Given the description of an element on the screen output the (x, y) to click on. 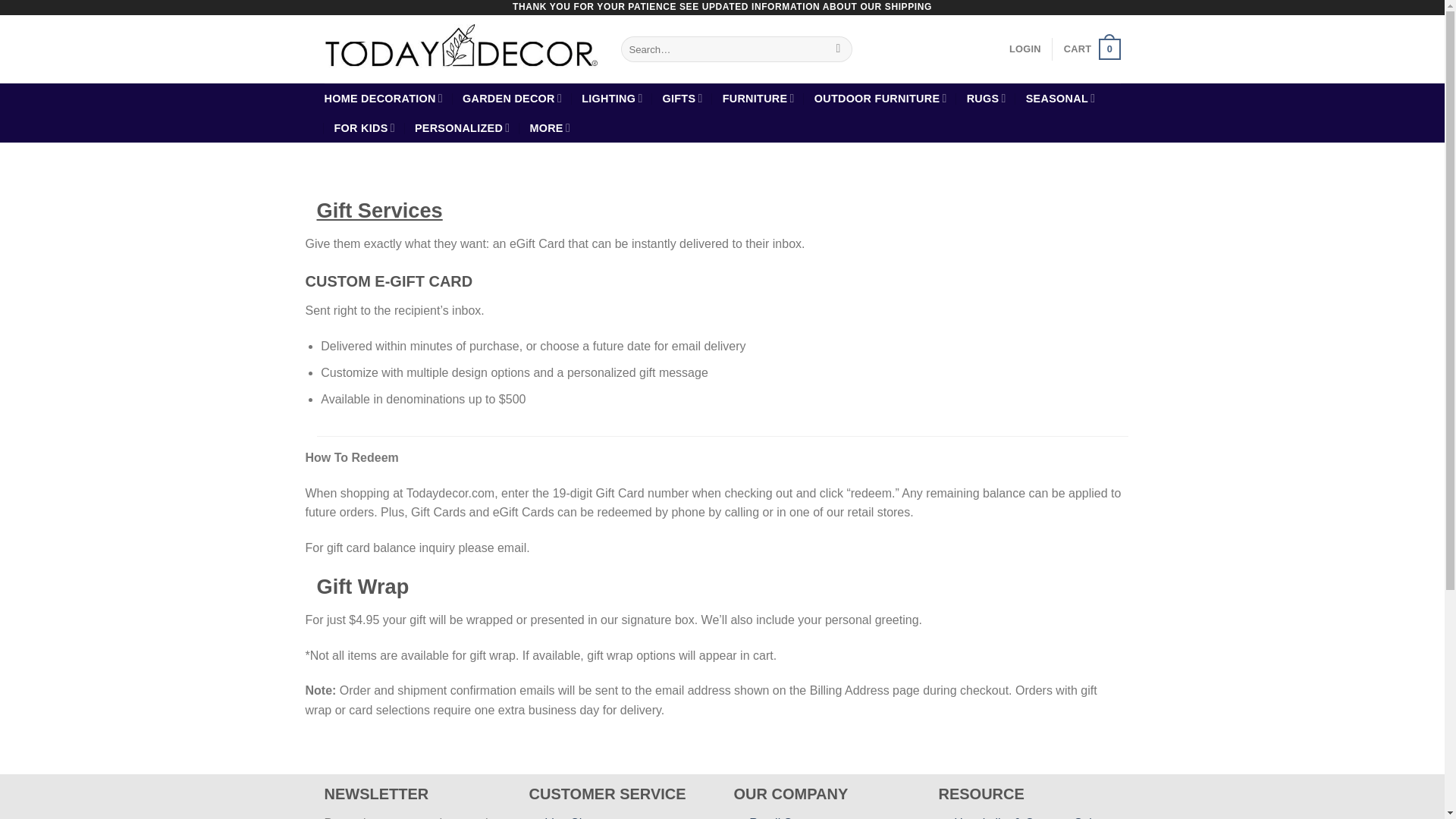
HOME DECORATION (384, 98)
Today Decor - Home Always The Right Choice (461, 49)
LOGIN (1025, 49)
LIGHTING (611, 98)
Search (837, 49)
GARDEN DECOR (512, 98)
Cart (1092, 48)
